Given the description of an element on the screen output the (x, y) to click on. 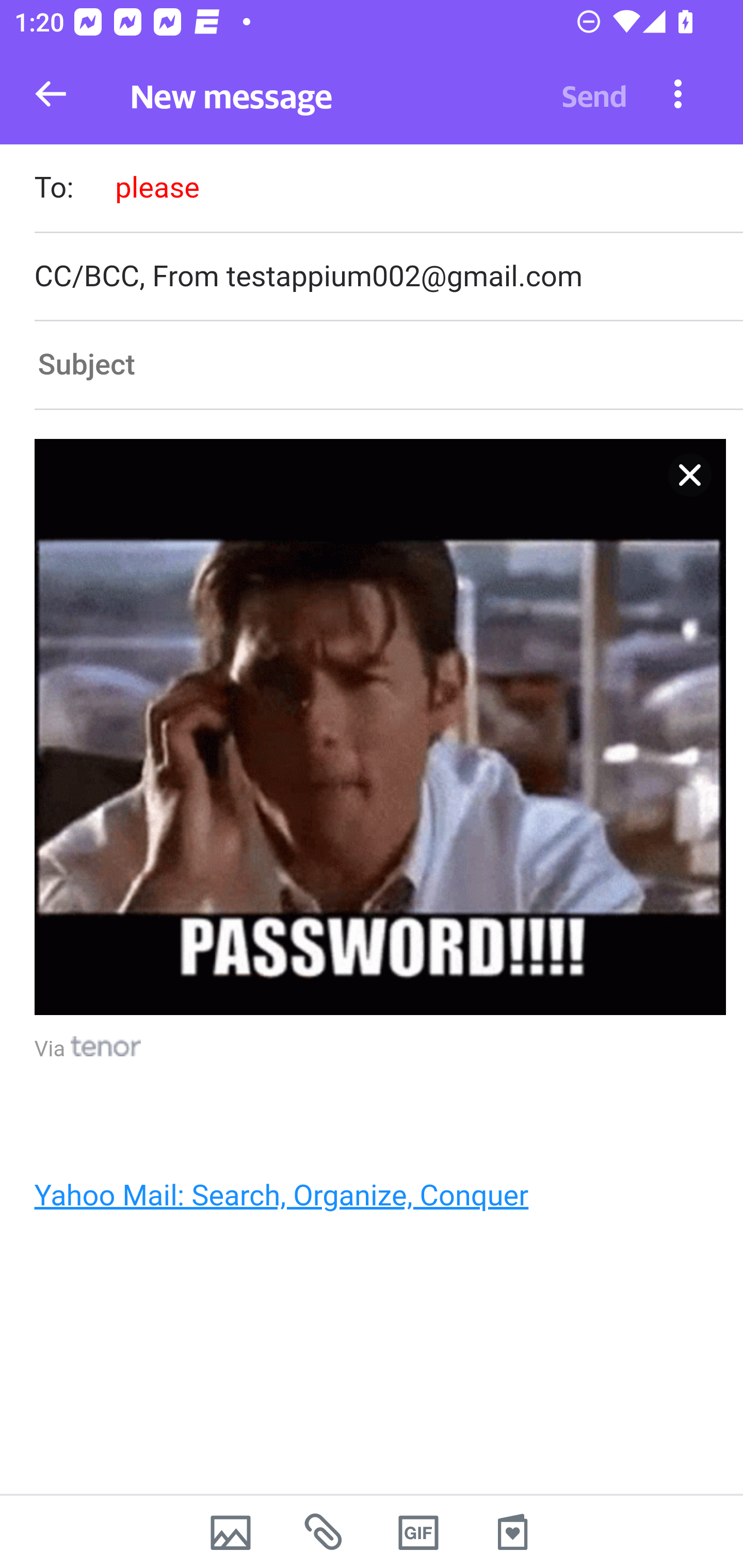
Back (50, 93)
Send (594, 93)
More options (677, 93)
To: please (387, 189)
please (156, 187)
CC/BCC, From testappium002@gmail.com (387, 276)
Remove attachment (690, 474)
Via  Via  tenor (87, 1049)
Yahoo Mail: Search, Organize, Conquer (280, 1195)
Camera photos (230, 1531)
Recent attachments from mail (324, 1531)
GIFs (417, 1531)
Stationery (512, 1531)
